Given the description of an element on the screen output the (x, y) to click on. 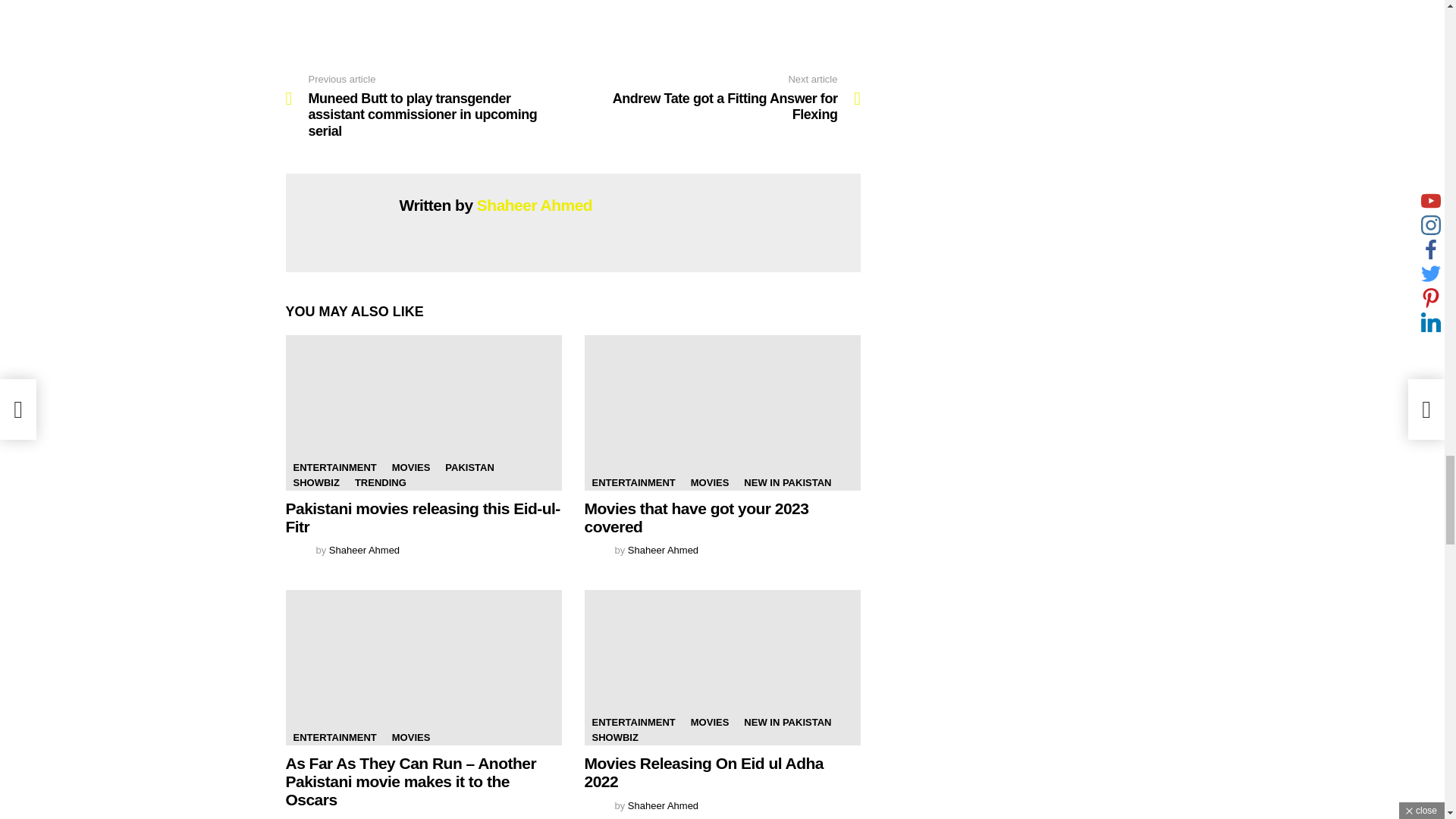
Movies Releasing On Eid ul Adha 2022 (721, 667)
Pakistani movies releasing this Eid-ul-Fitr (422, 517)
Posts by Shaheer Ahmed (363, 818)
Movies that have got your 2023 covered (721, 412)
Posts by Shaheer Ahmed (662, 550)
TRENDING (380, 482)
MOVIES (411, 467)
PAKISTAN (470, 467)
Posts by Shaheer Ahmed (716, 98)
Shaheer Ahmed (662, 805)
Shaheer Ahmed (363, 550)
SHOWBIZ (534, 204)
Pakistani movies releasing this Eid-ul-Fitr (315, 482)
ENTERTAINMENT (422, 412)
